Given the description of an element on the screen output the (x, y) to click on. 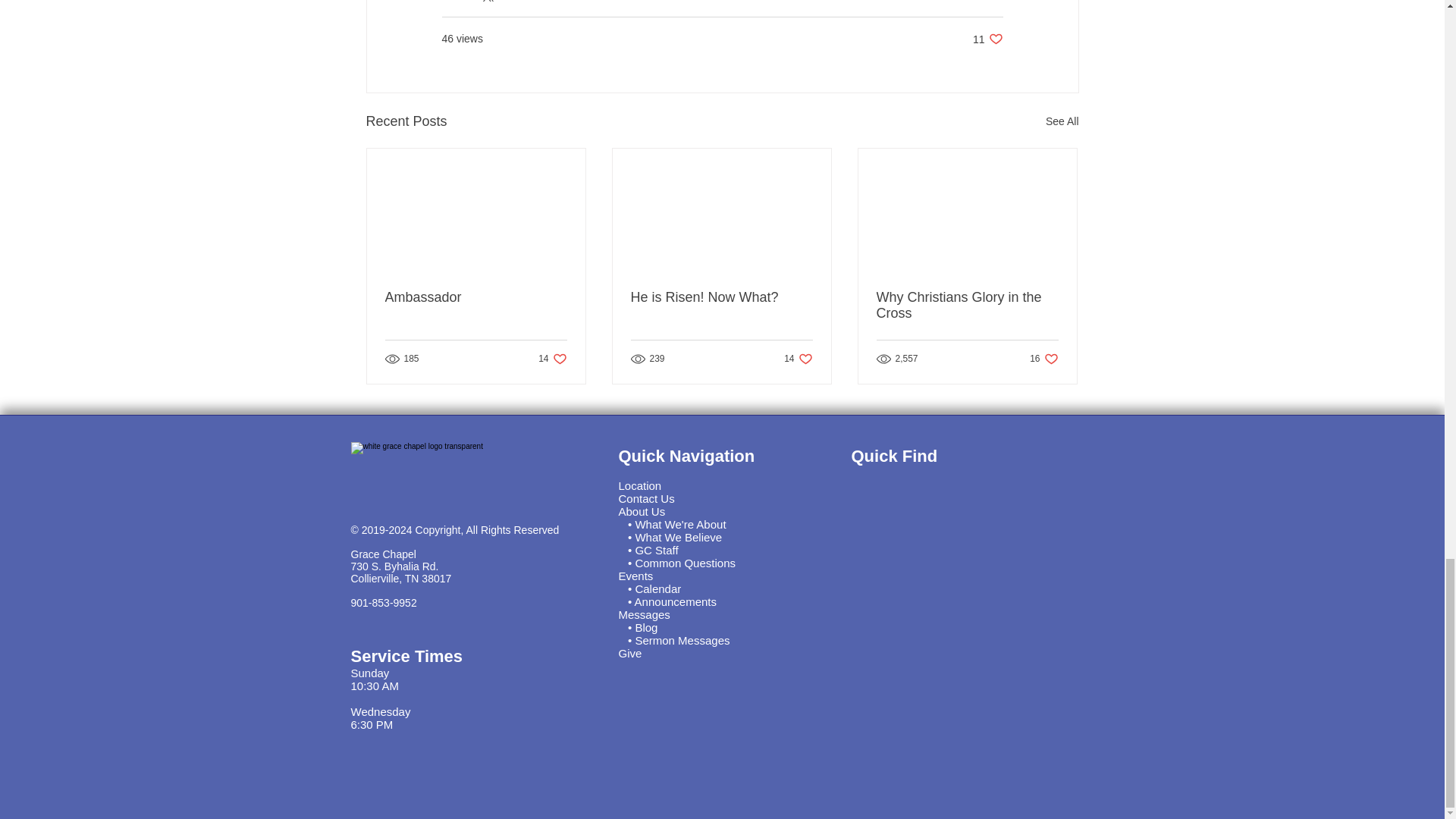
Announcements (675, 601)
Blog (646, 626)
GC Staff (656, 549)
What We're About (679, 523)
He is Risen! Now What? (721, 297)
Calendar (657, 588)
Location (640, 485)
See All (1061, 121)
Ambassador (1043, 359)
Why Christians Glory in the Cross (476, 297)
Contact Us (967, 305)
Sermon Messages (646, 498)
What We Believe (681, 640)
Common Questions (678, 536)
